Given the description of an element on the screen output the (x, y) to click on. 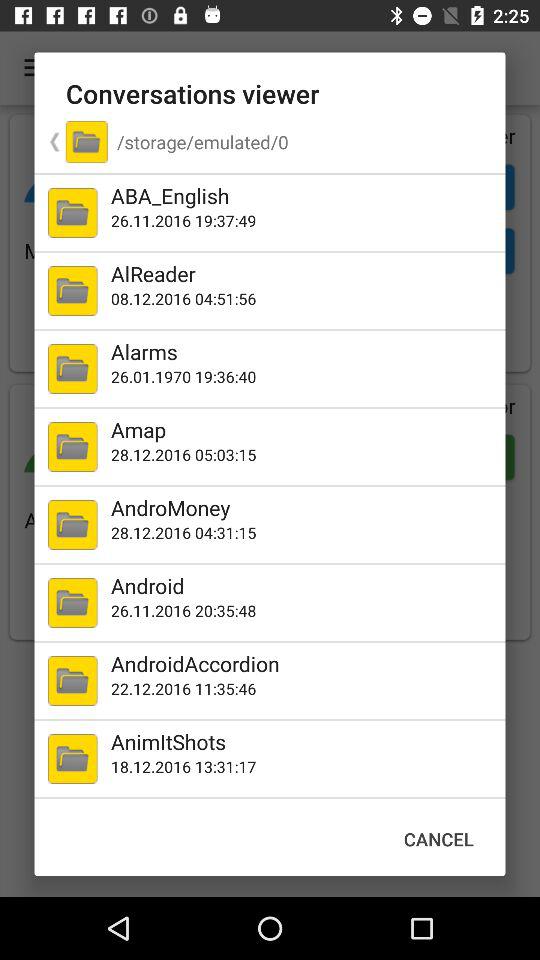
turn on android icon (304, 585)
